Given the description of an element on the screen output the (x, y) to click on. 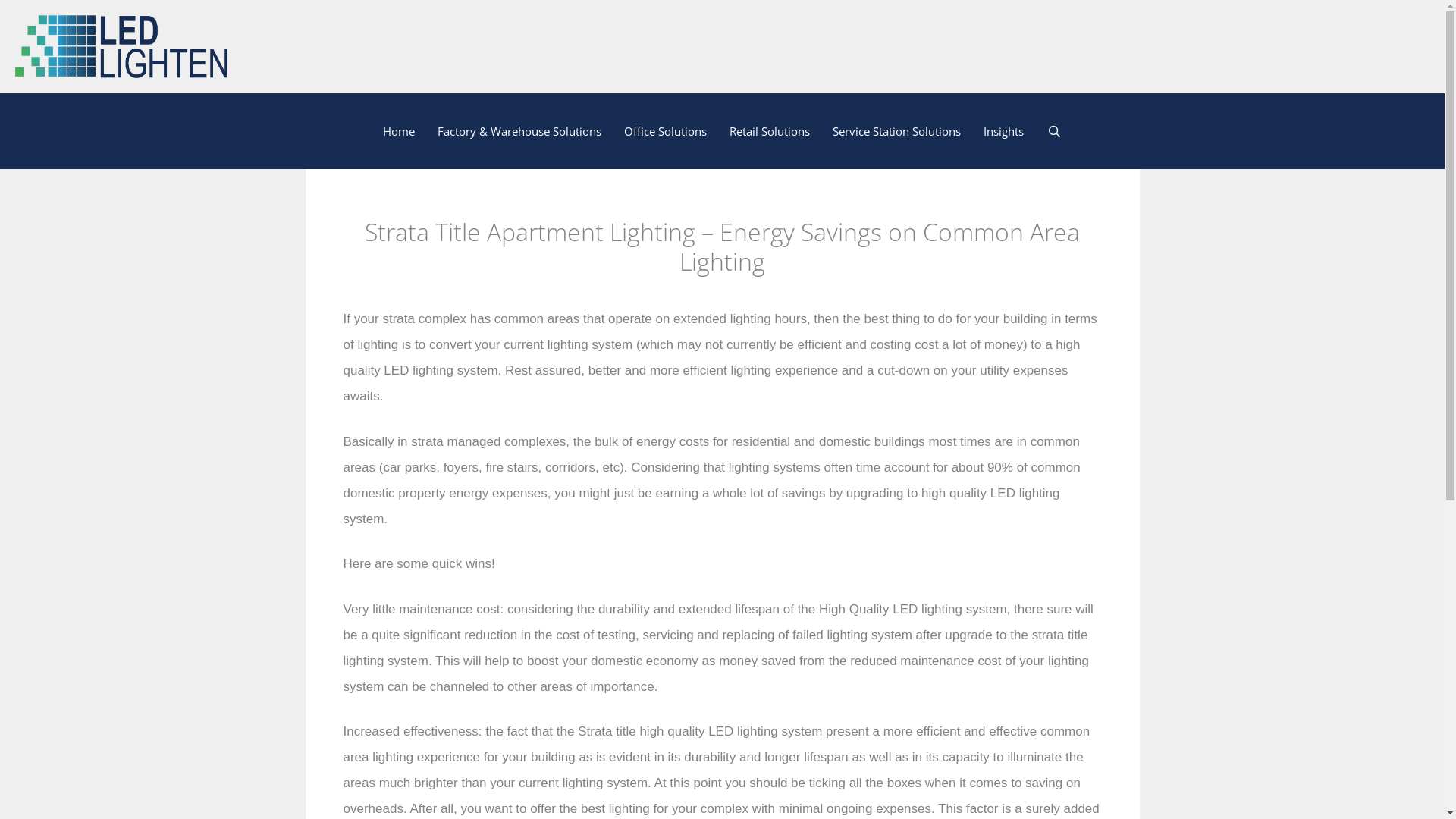
LED Lighten Element type: hover (121, 46)
LED Lighten Element type: hover (121, 44)
Factory & Warehouse Solutions Element type: text (519, 131)
Insights Element type: text (1003, 131)
Home Element type: text (398, 131)
Search Element type: text (1053, 131)
Retail Solutions Element type: text (769, 131)
Office Solutions Element type: text (665, 131)
Service Station Solutions Element type: text (896, 131)
